Given the description of an element on the screen output the (x, y) to click on. 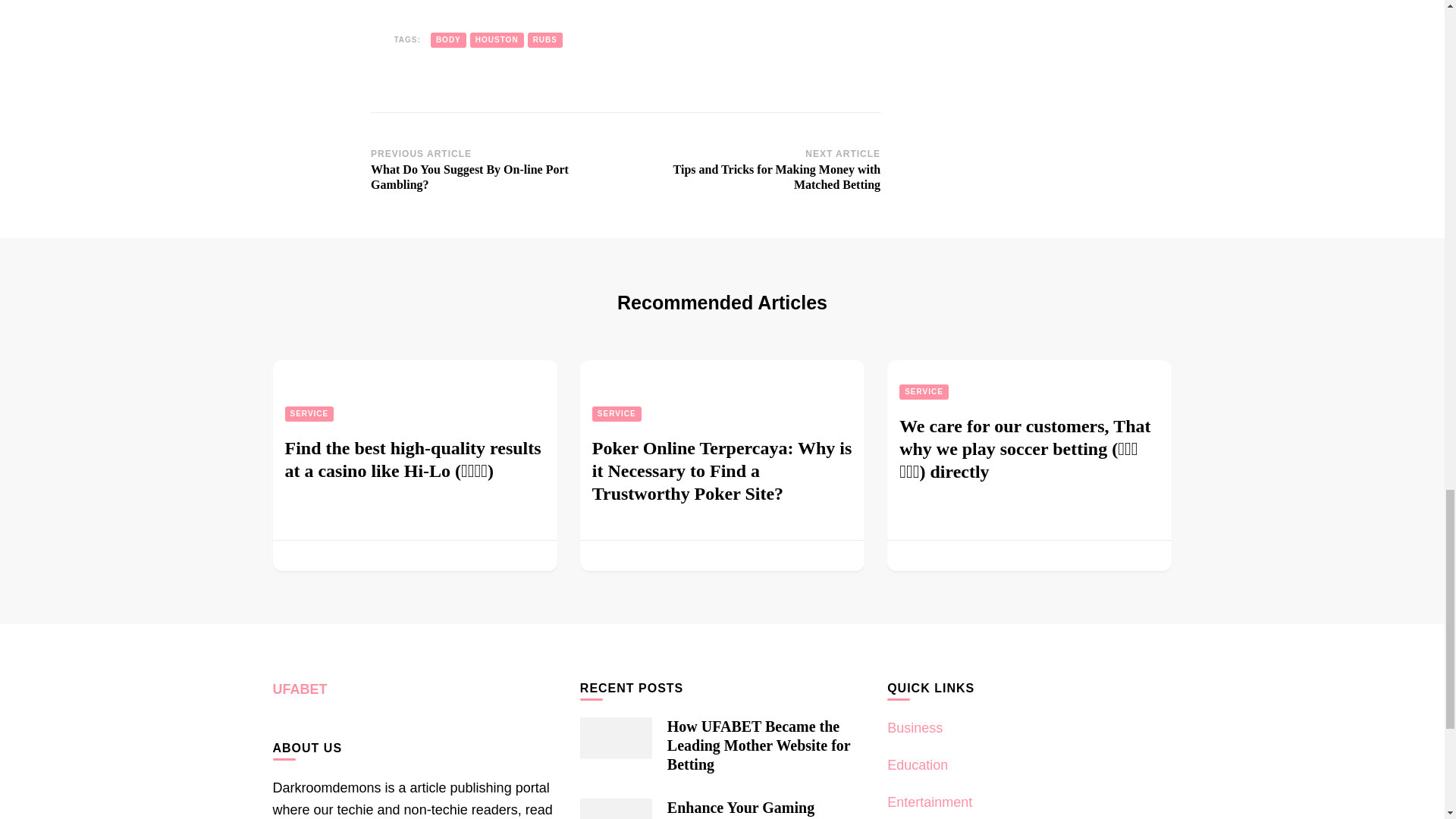
BODY (447, 39)
HOUSTON (497, 39)
RUBS (544, 39)
